Given the description of an element on the screen output the (x, y) to click on. 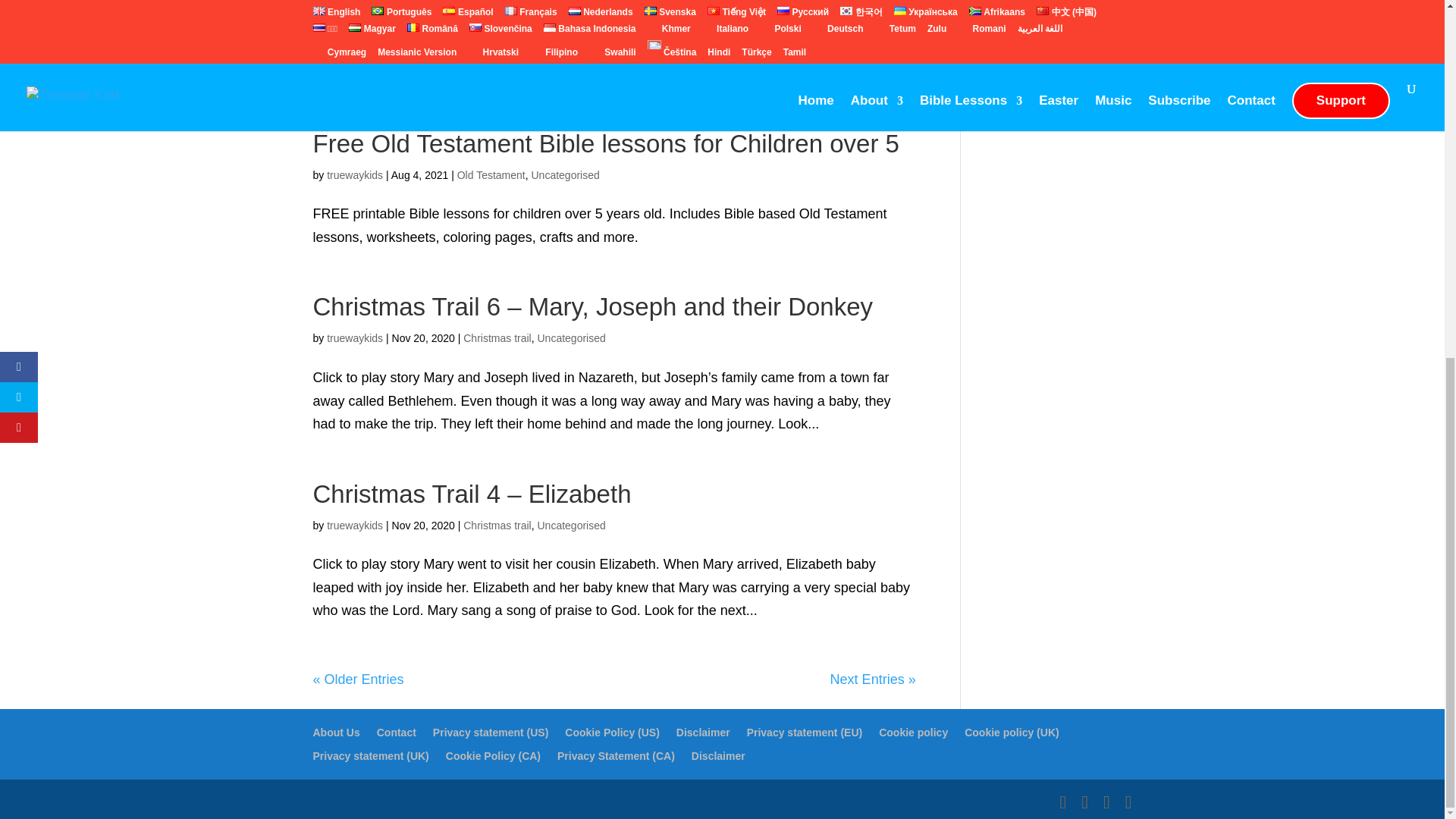
Posts by truewaykids (354, 10)
Posts by truewaykids (354, 337)
Posts by truewaykids (354, 525)
Posts by truewaykids (354, 174)
